Given the description of an element on the screen output the (x, y) to click on. 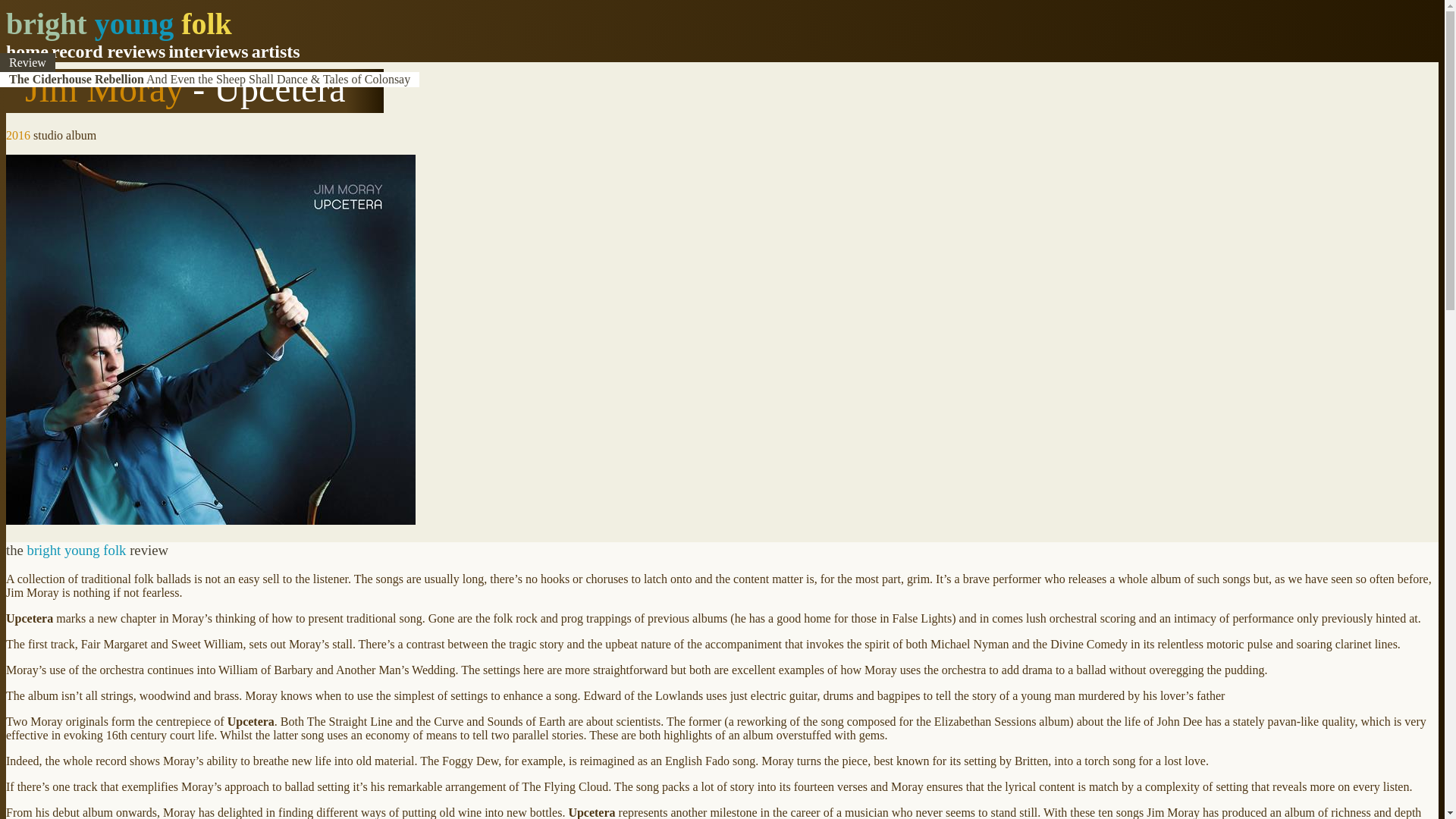
Jim Moray The Outlander 2019 (88, 79)
interviews (207, 51)
artists (275, 51)
Oss Oss EP 2014 (50, 79)
False Lights Harmonograph 2018 (92, 79)
Jim Moray (103, 88)
record reviews (107, 51)
2016 (17, 134)
bright young folk (118, 23)
home (26, 51)
David Milton Songs from the Bell Man 2018 (120, 79)
Nick Hart Nick Hart Sings Ten English Folk Songs 2022 (149, 79)
Nick Hart Nick Hart Sings Eight English Folk Songs 2017 (152, 79)
See all folk music releases for 2016 (17, 134)
